Given the description of an element on the screen output the (x, y) to click on. 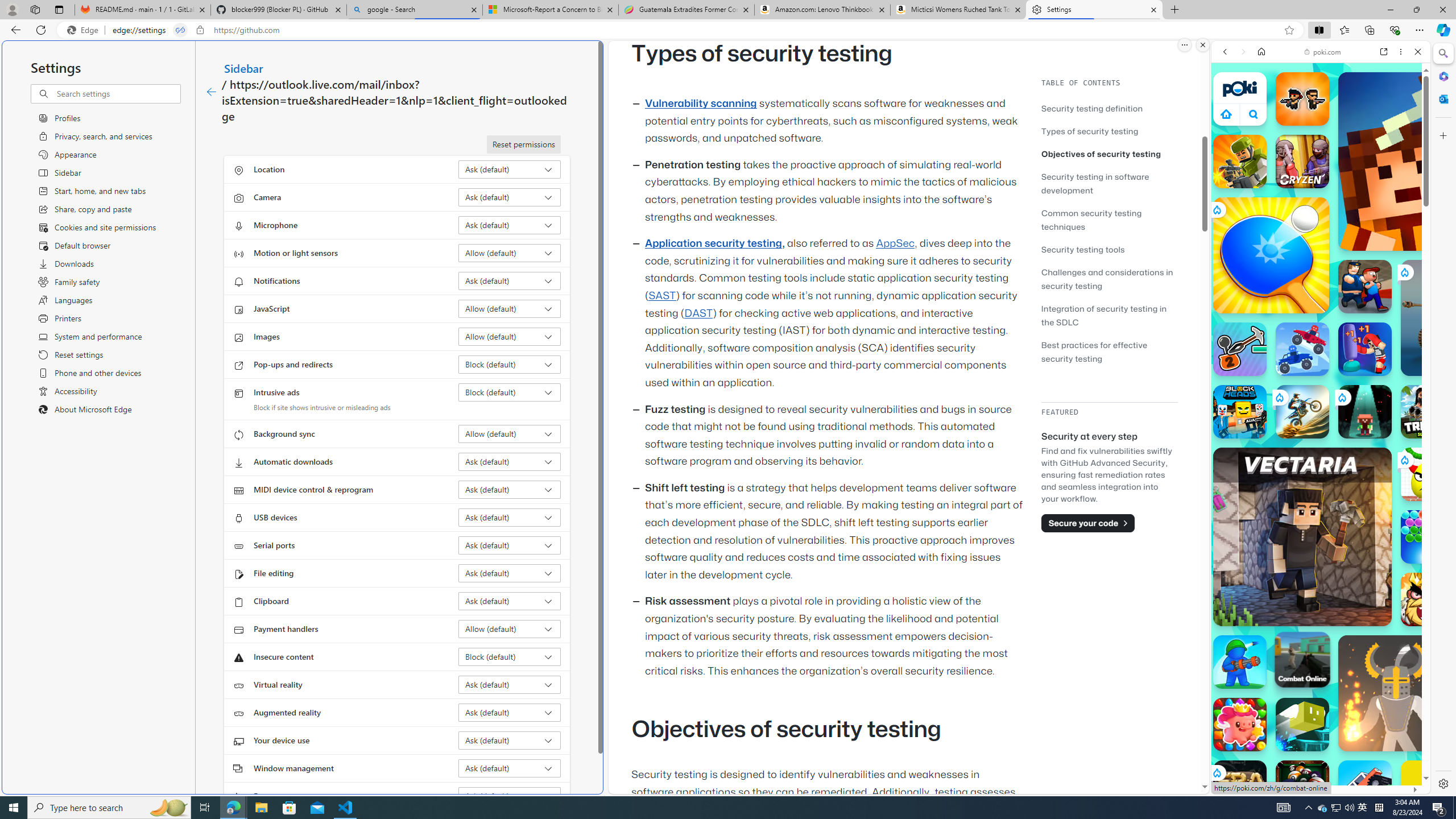
Background sync Allow (default) (509, 434)
Era: Evolution (1239, 787)
Combat Online Combat Online (1302, 659)
Two Player Games (1320, 323)
Motion or light sensors Allow (default) (509, 253)
Era: Evolution Era: Evolution (1239, 787)
Common security testing techniques (1109, 219)
Poki (1315, 754)
Search results from poki.com (1299, 443)
Fonts Ask (default) (509, 796)
Class: aprWdaSScyiJf4Jvmsx9 (1225, 113)
Tabs in split screen (180, 29)
